Given the description of an element on the screen output the (x, y) to click on. 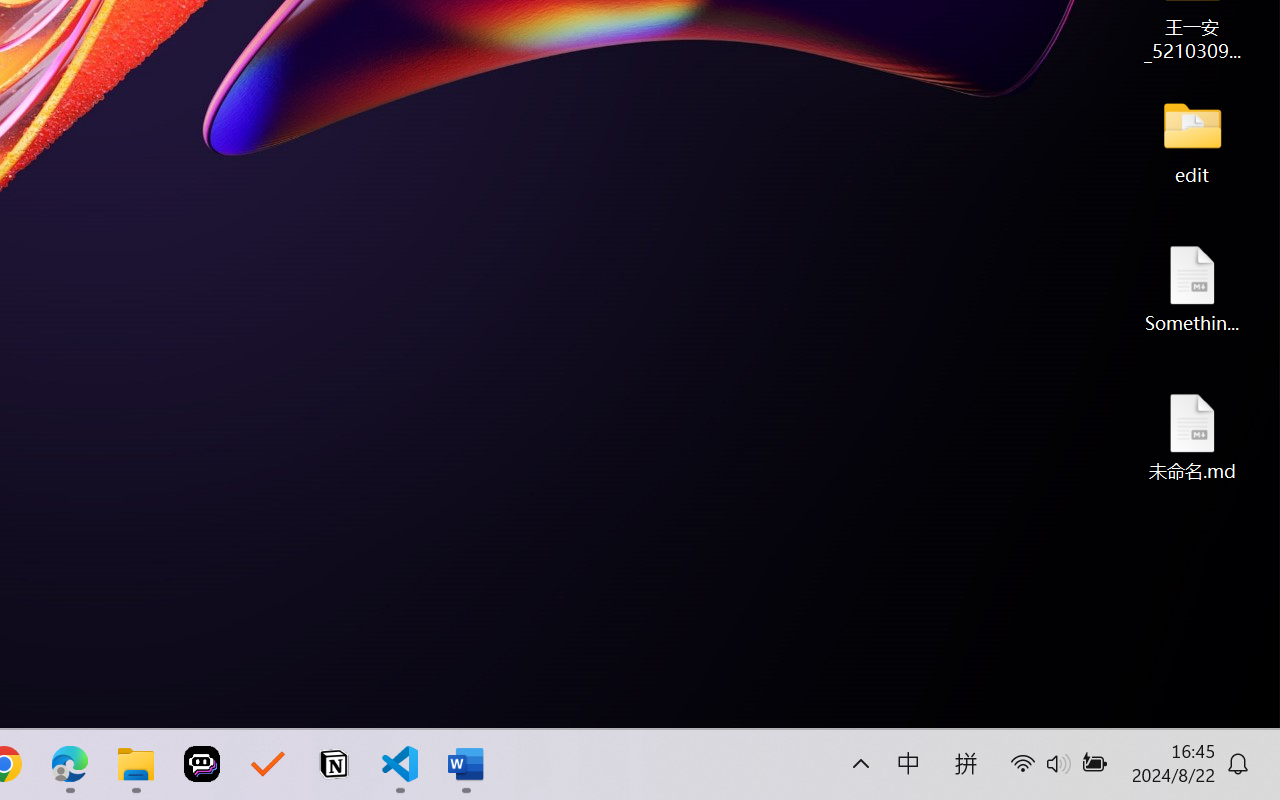
Something.md (1192, 288)
edit (1192, 140)
